Given the description of an element on the screen output the (x, y) to click on. 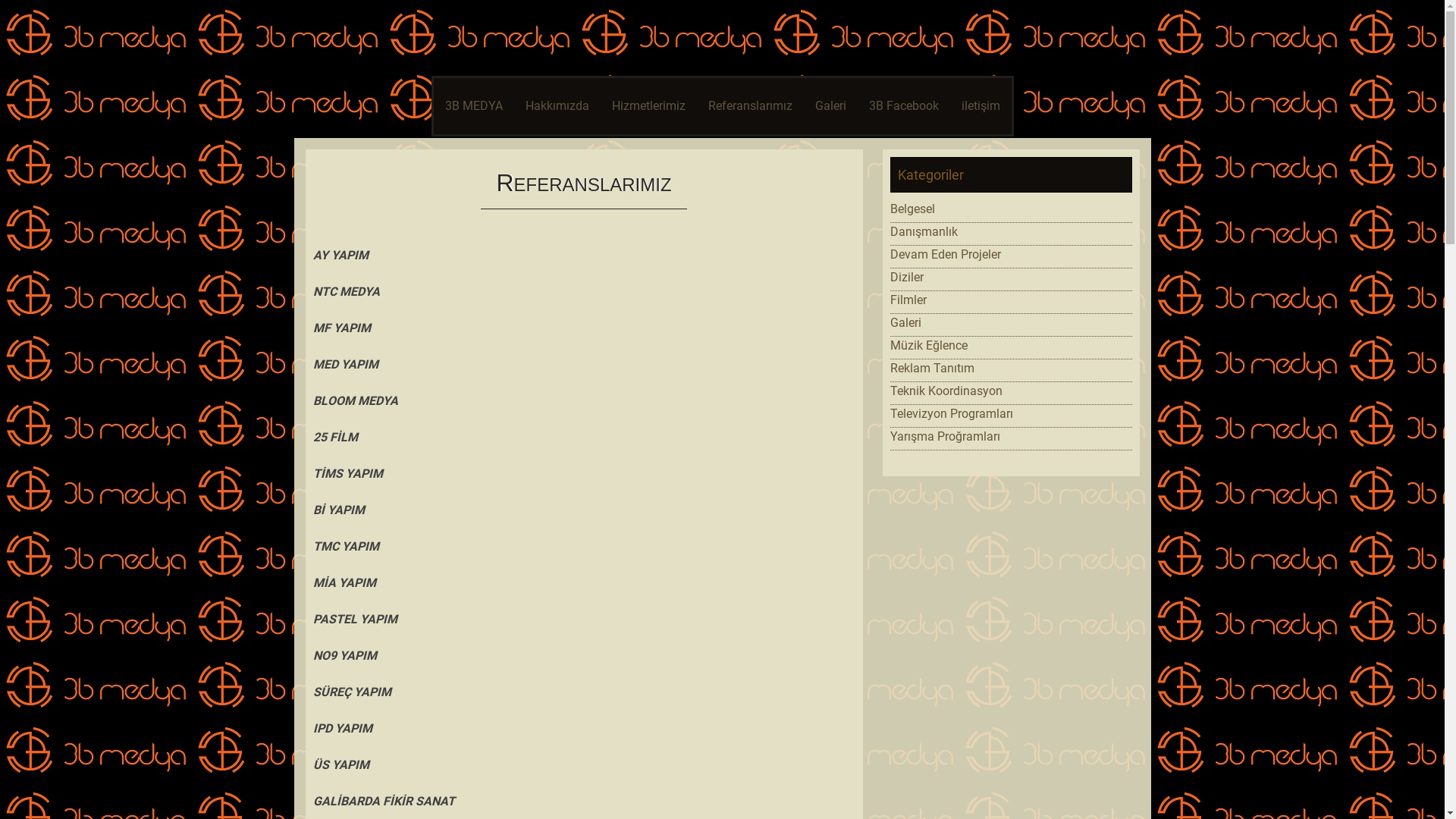
3B MEDYA Element type: text (473, 106)
Hizmetlerimiz Element type: text (648, 106)
Filmler Element type: text (908, 299)
Skip to content Element type: text (484, 106)
Diziler Element type: text (906, 276)
Teknik Koordinasyon Element type: text (946, 390)
3B Facebook Element type: text (902, 106)
Galeri Element type: text (905, 322)
Devam Eden Projeler Element type: text (945, 254)
Belgesel Element type: text (912, 208)
Galeri Element type: text (830, 106)
3bmedya.com.tr Element type: text (131, 26)
